Given the description of an element on the screen output the (x, y) to click on. 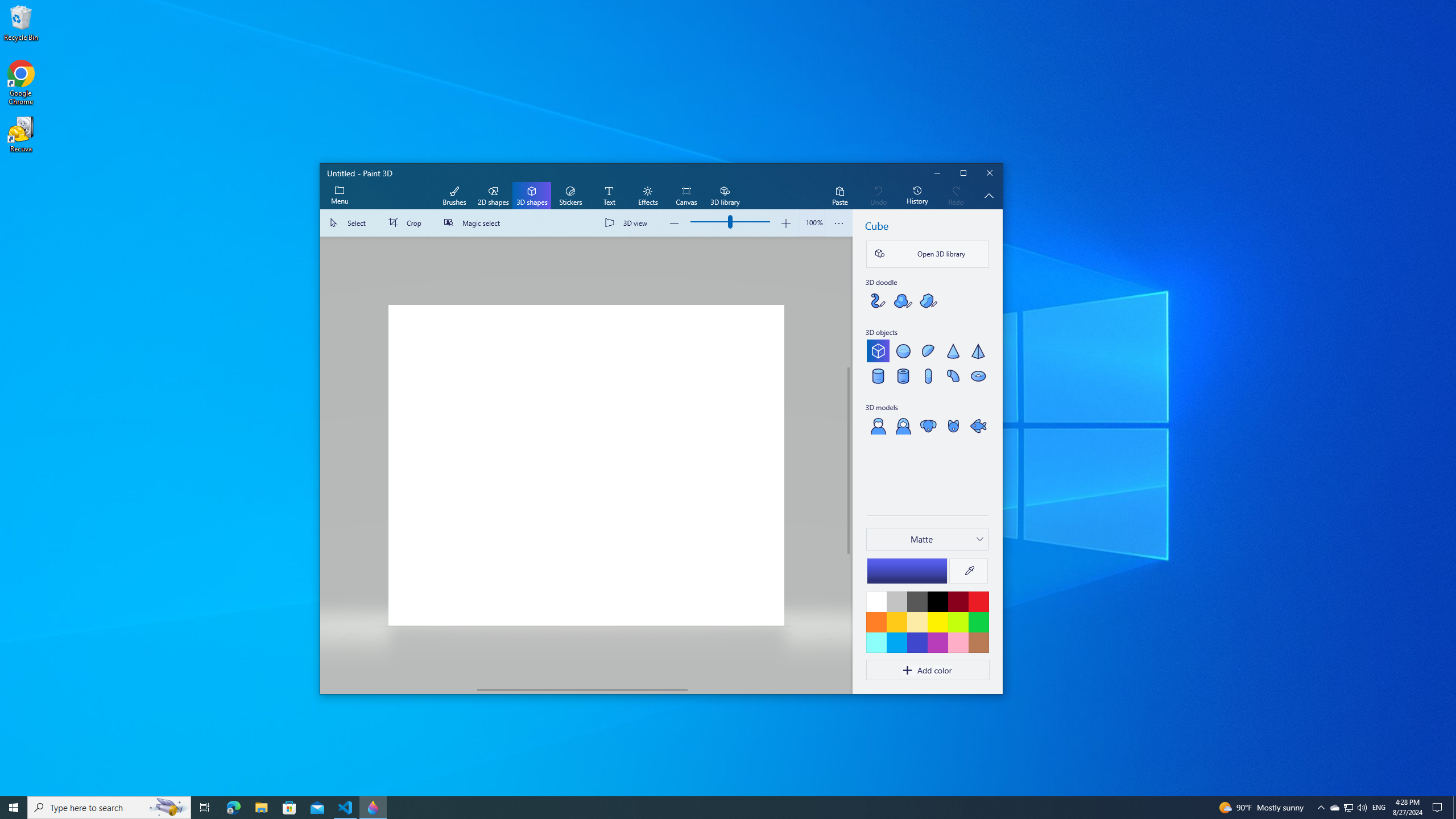
Zoom slider (812, 222)
Soft edge (902, 300)
Tube (902, 375)
